Given the description of an element on the screen output the (x, y) to click on. 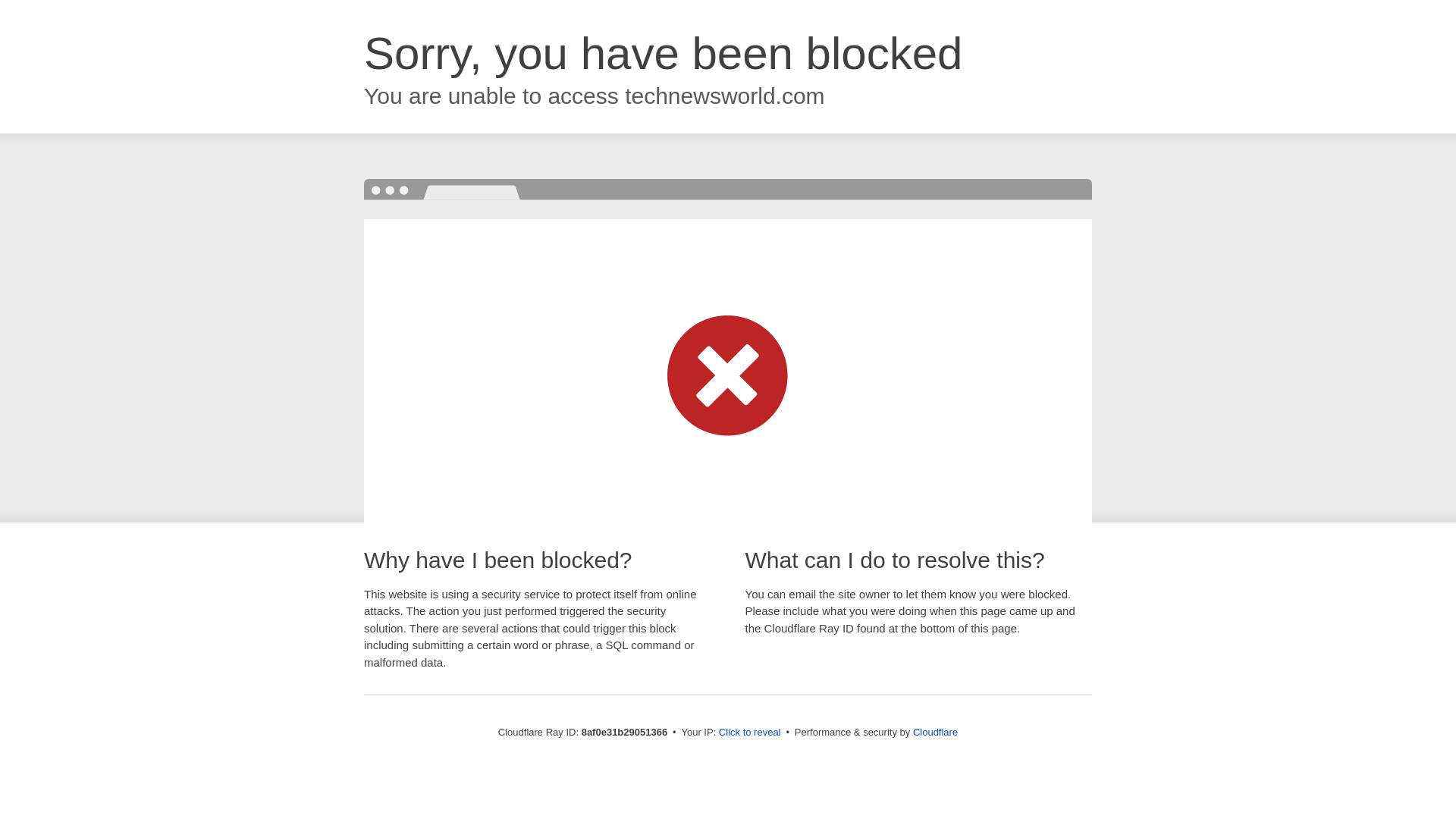
Cloudflare (935, 731)
Click to reveal (749, 732)
